Given the description of an element on the screen output the (x, y) to click on. 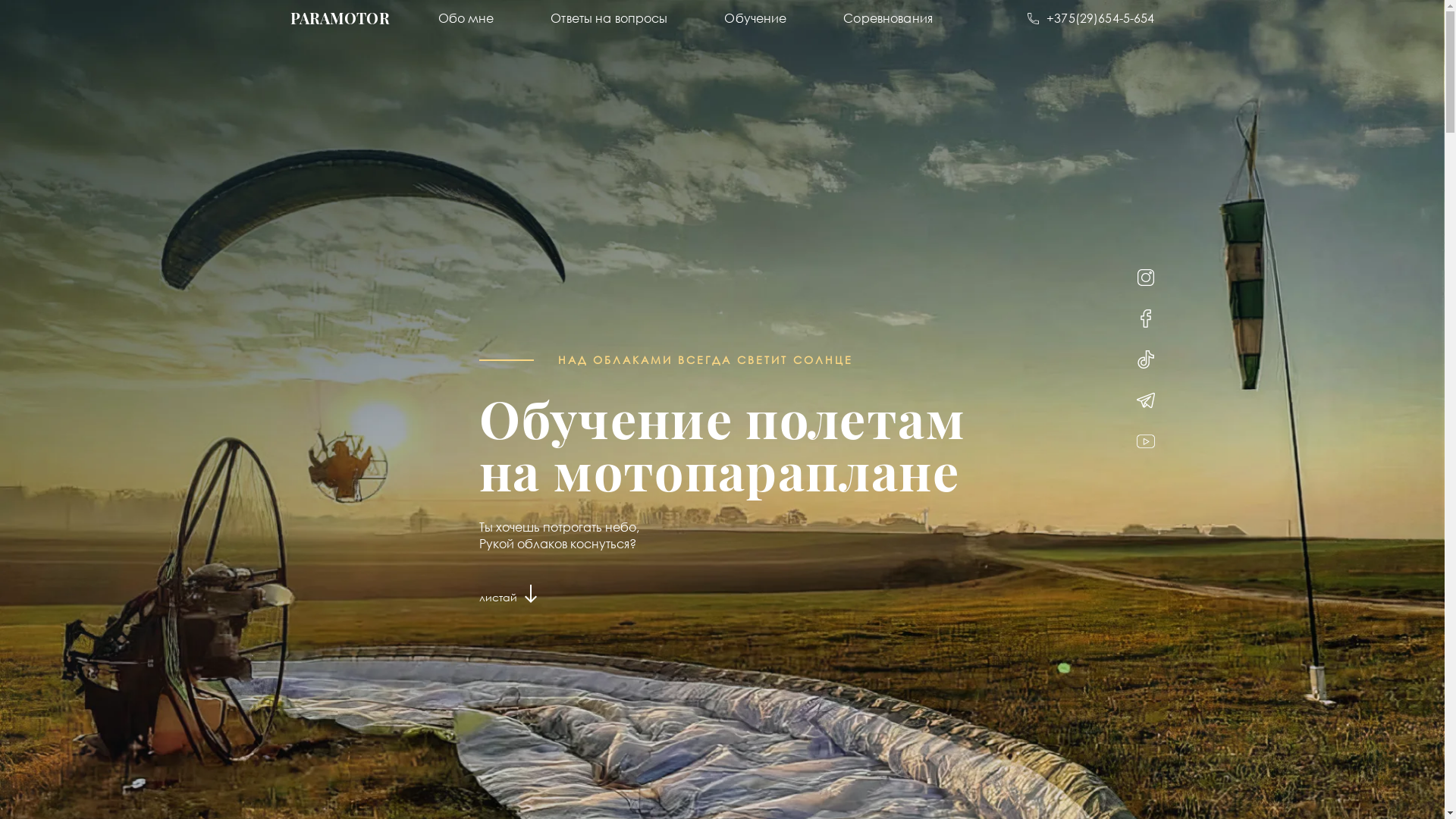
+375(29)654-5-654 Element type: text (1090, 17)
